Given the description of an element on the screen output the (x, y) to click on. 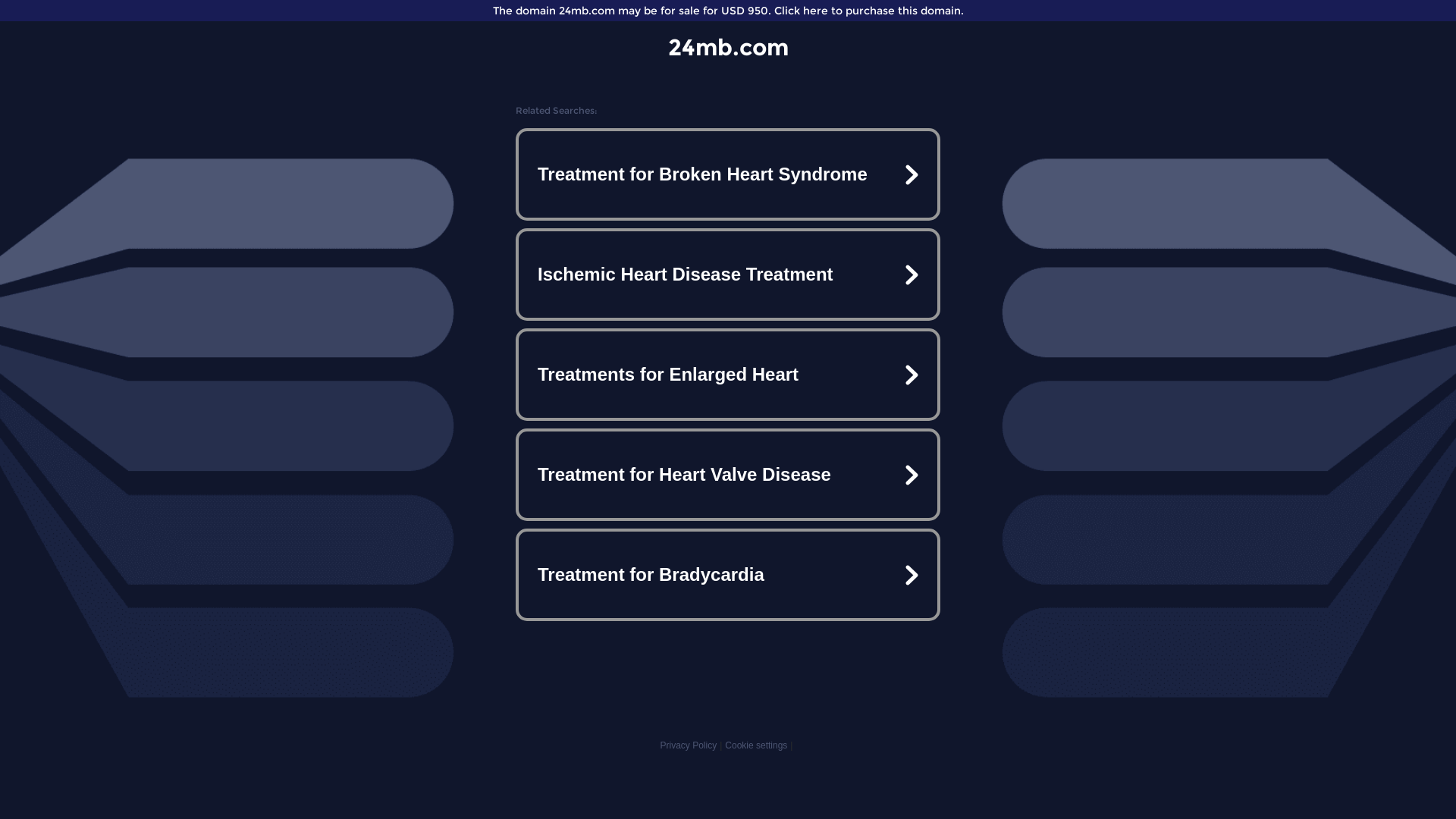
Treatment for Heart Valve Disease Element type: text (727, 474)
Privacy Policy Element type: text (687, 745)
Cookie settings Element type: text (755, 745)
Treatment for Broken Heart Syndrome Element type: text (727, 174)
Treatments for Enlarged Heart Element type: text (727, 374)
Ischemic Heart Disease Treatment Element type: text (727, 274)
Treatment for Bradycardia Element type: text (727, 574)
24mb.com Element type: text (727, 47)
